Given the description of an element on the screen output the (x, y) to click on. 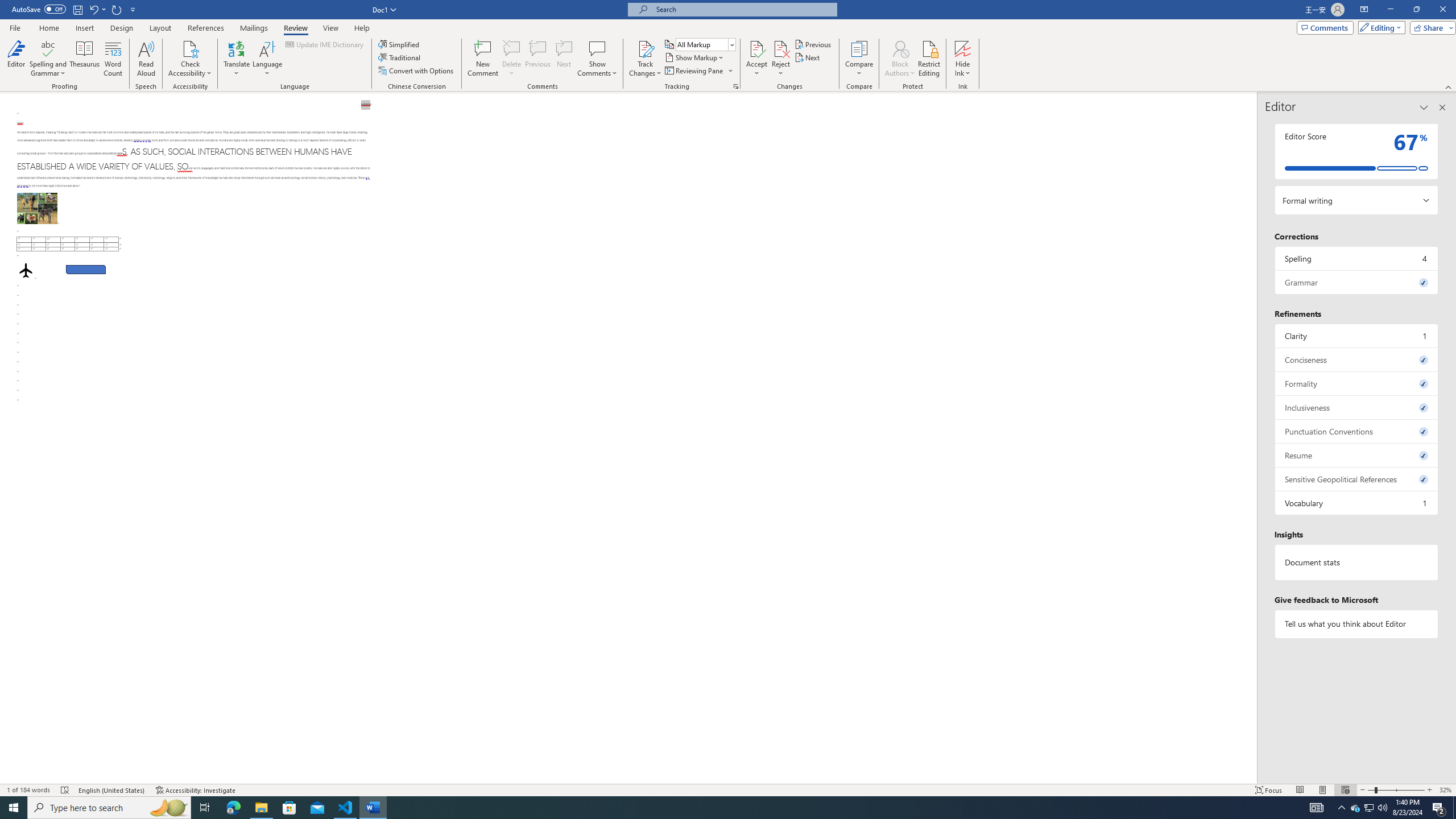
Comments (1325, 27)
Spelling, 4 issues. Press space or enter to review items. (1356, 258)
Design (122, 28)
Language (267, 58)
Focus  (1268, 790)
Quick Access Toolbar (74, 9)
Zoom Out (1370, 790)
Accept (756, 58)
Check Accessibility (189, 48)
Thesaurus... (84, 58)
Read Aloud (145, 58)
